Given the description of an element on the screen output the (x, y) to click on. 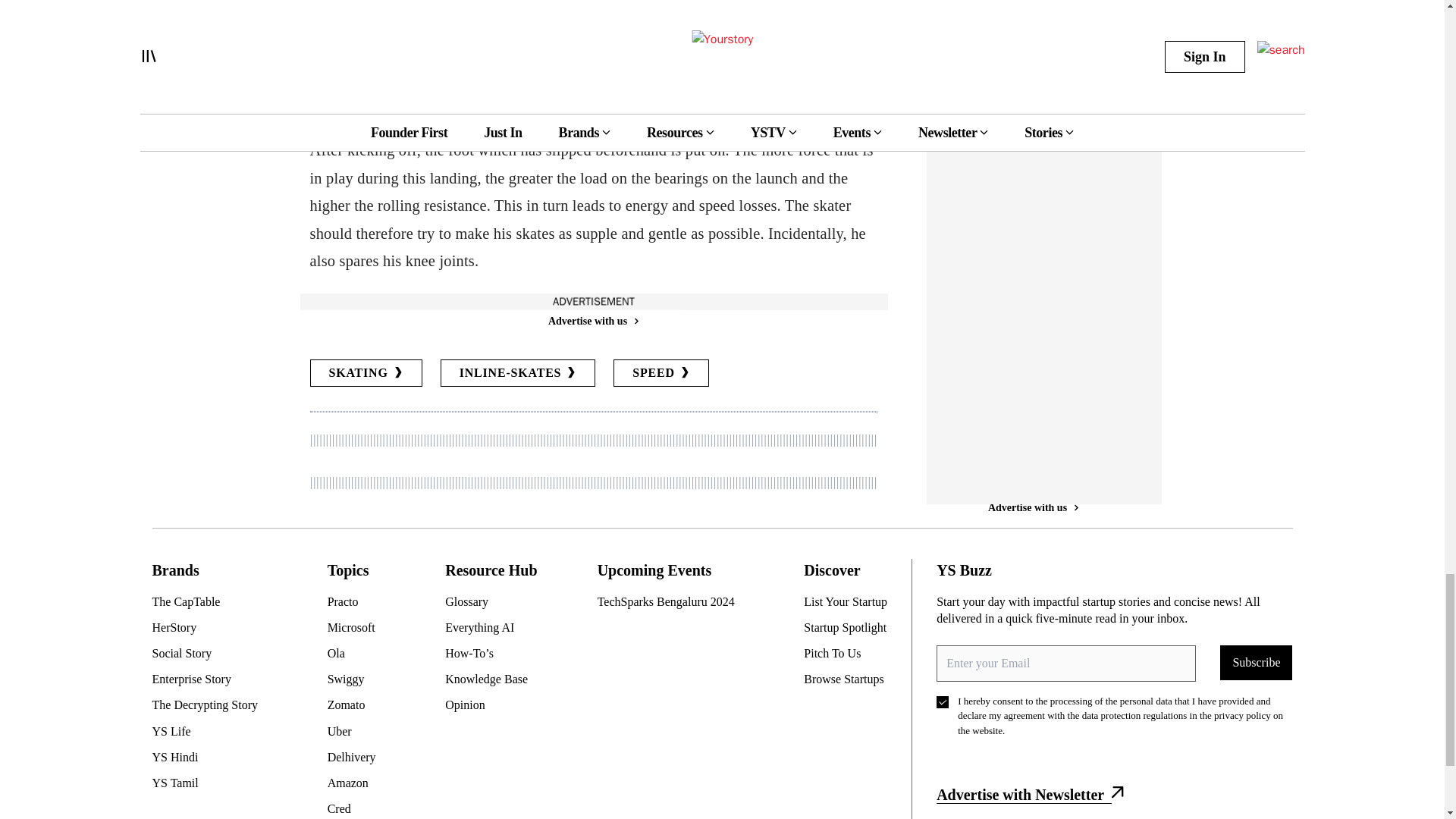
SKATING (365, 372)
The CapTable (210, 601)
Advertise with us (592, 320)
INLINE-SKATES (518, 372)
SPEED (660, 372)
Social Story (210, 653)
HerStory (210, 627)
